Given the description of an element on the screen output the (x, y) to click on. 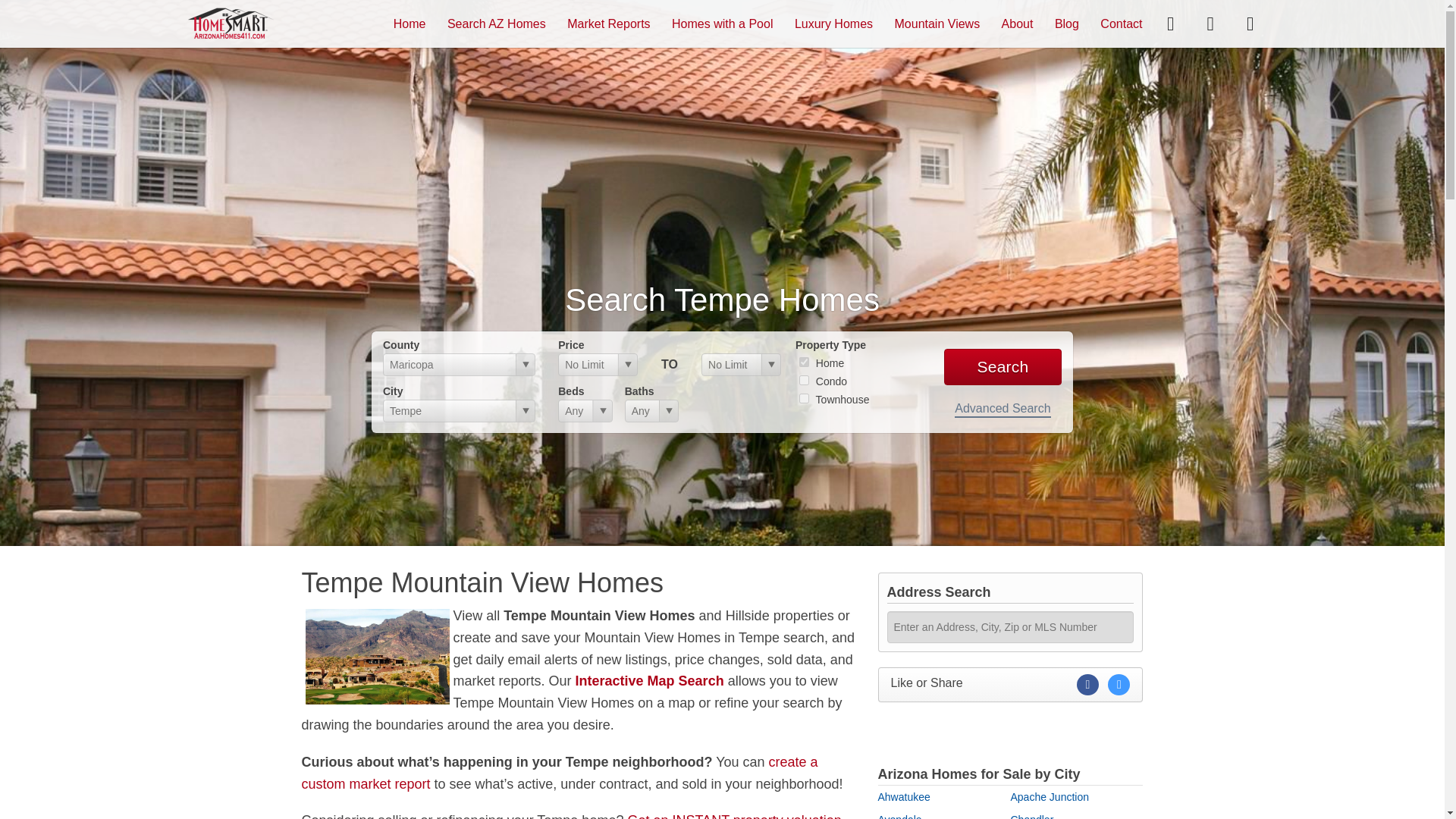
Home (409, 23)
Interactive Map Search (649, 680)
Homes with a Pool (722, 23)
Luxury Homes (833, 23)
Search (1002, 366)
Login or Signup (1249, 22)
Advanced Search (1002, 409)
Blog (1066, 23)
Mountain Views (937, 23)
Market Reports (608, 23)
Search (1002, 366)
con (804, 379)
Open contact form (1170, 22)
twn (804, 398)
